Given the description of an element on the screen output the (x, y) to click on. 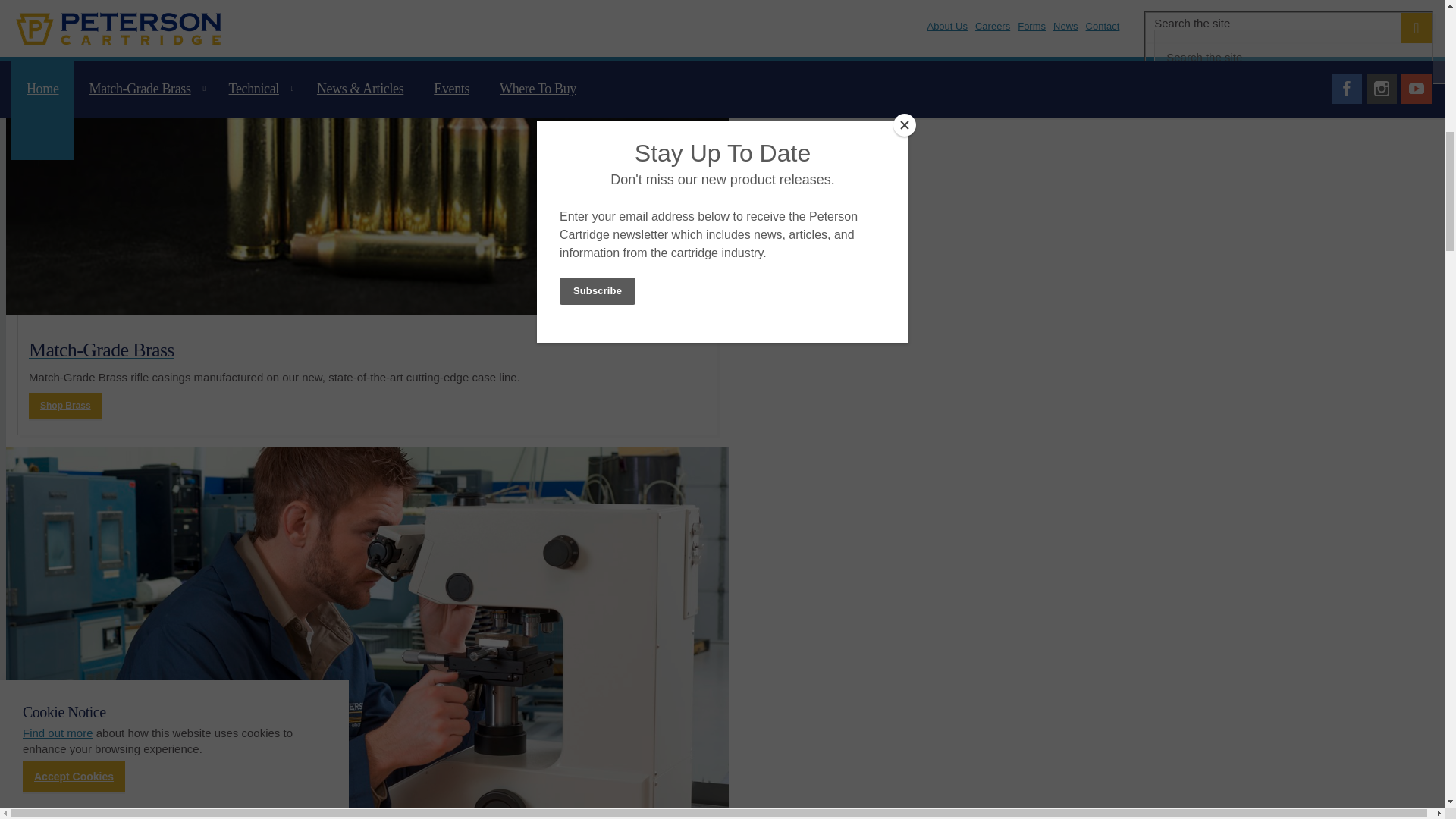
Shop Brass (65, 405)
